Given the description of an element on the screen output the (x, y) to click on. 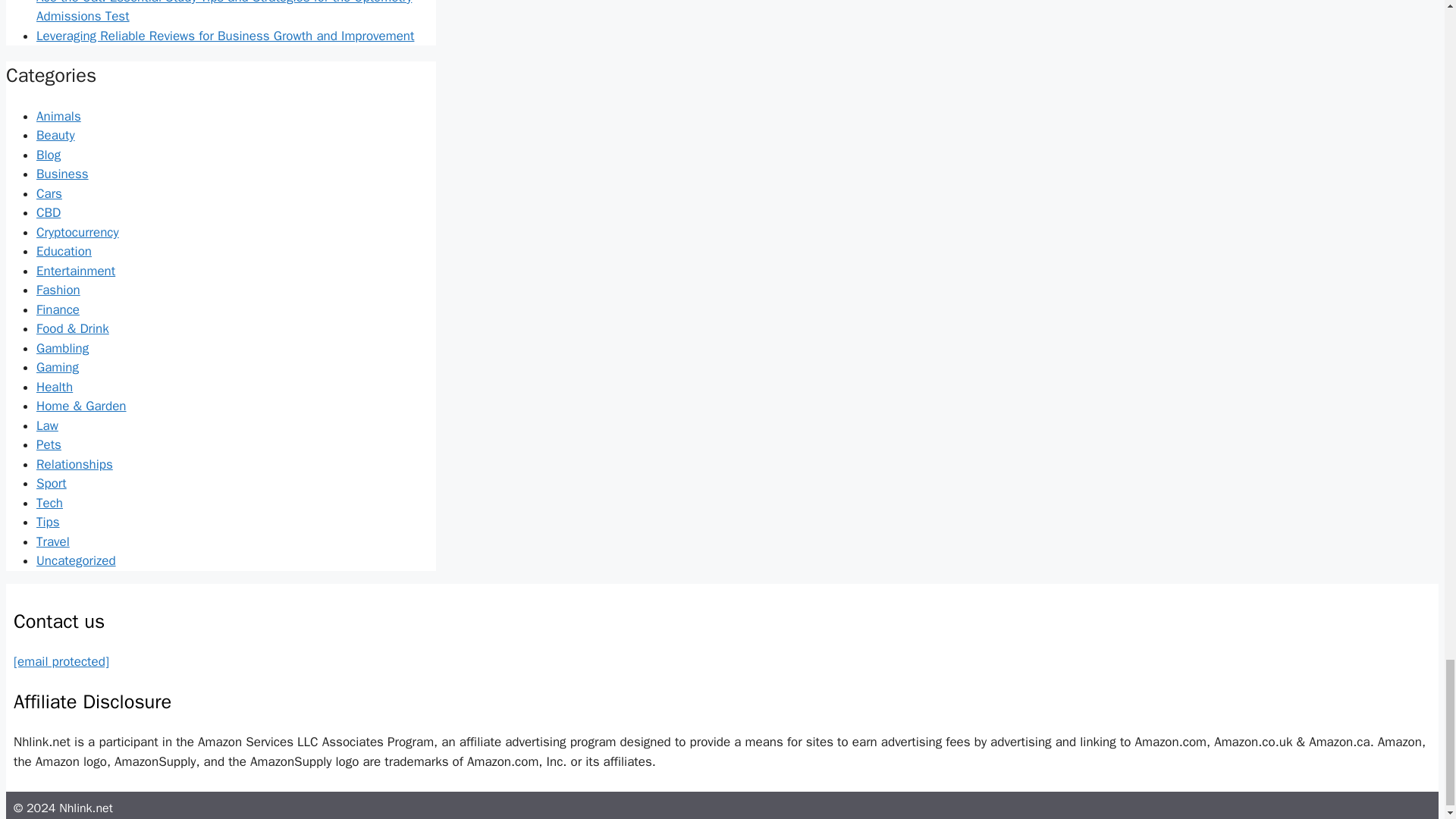
Animals (58, 116)
Beauty (55, 135)
Blog (48, 154)
